Given the description of an element on the screen output the (x, y) to click on. 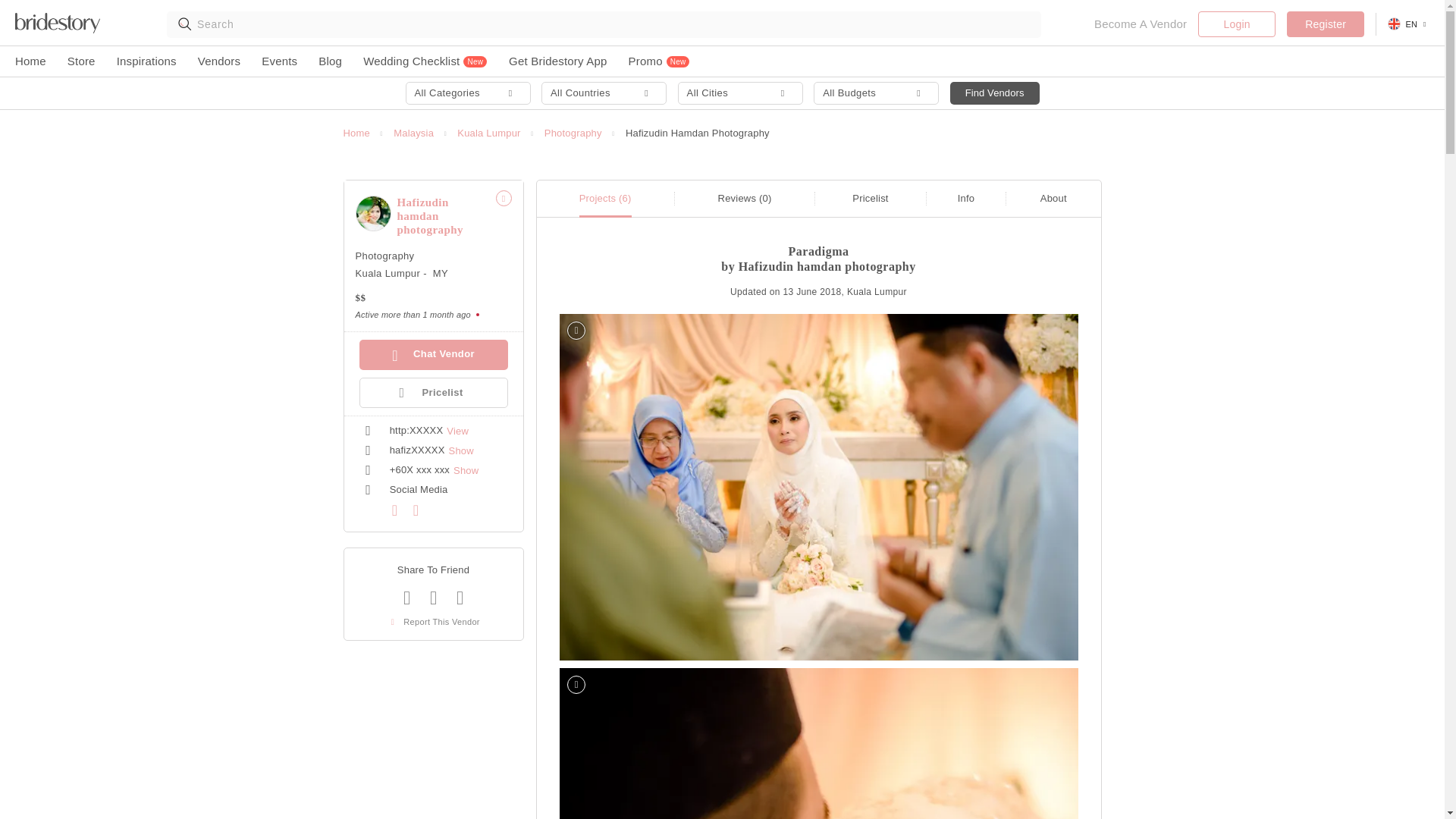
Become A Vendor (1140, 24)
Pricelist (869, 197)
Login (1236, 23)
Hafizudin hamdan photography (372, 212)
Info (966, 197)
Photography (384, 255)
Show (461, 450)
Show (465, 470)
Kuala Lumpur (488, 132)
Inspirations (146, 60)
Kuala Lumpur (387, 273)
Store (81, 60)
EN (1408, 24)
View (457, 430)
